Given the description of an element on the screen output the (x, y) to click on. 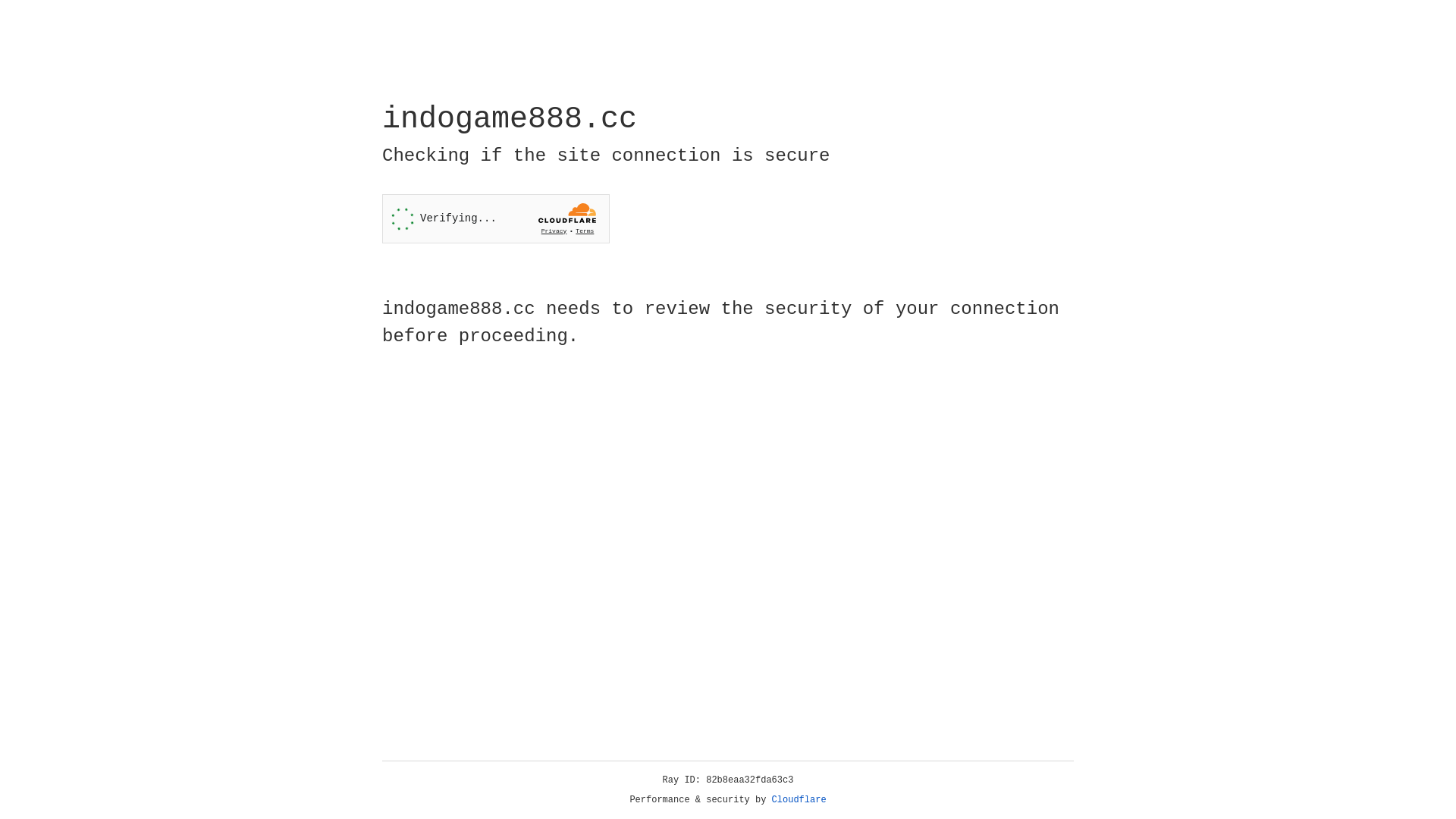
Cloudflare Element type: text (798, 799)
Widget containing a Cloudflare security challenge Element type: hover (495, 218)
